Given the description of an element on the screen output the (x, y) to click on. 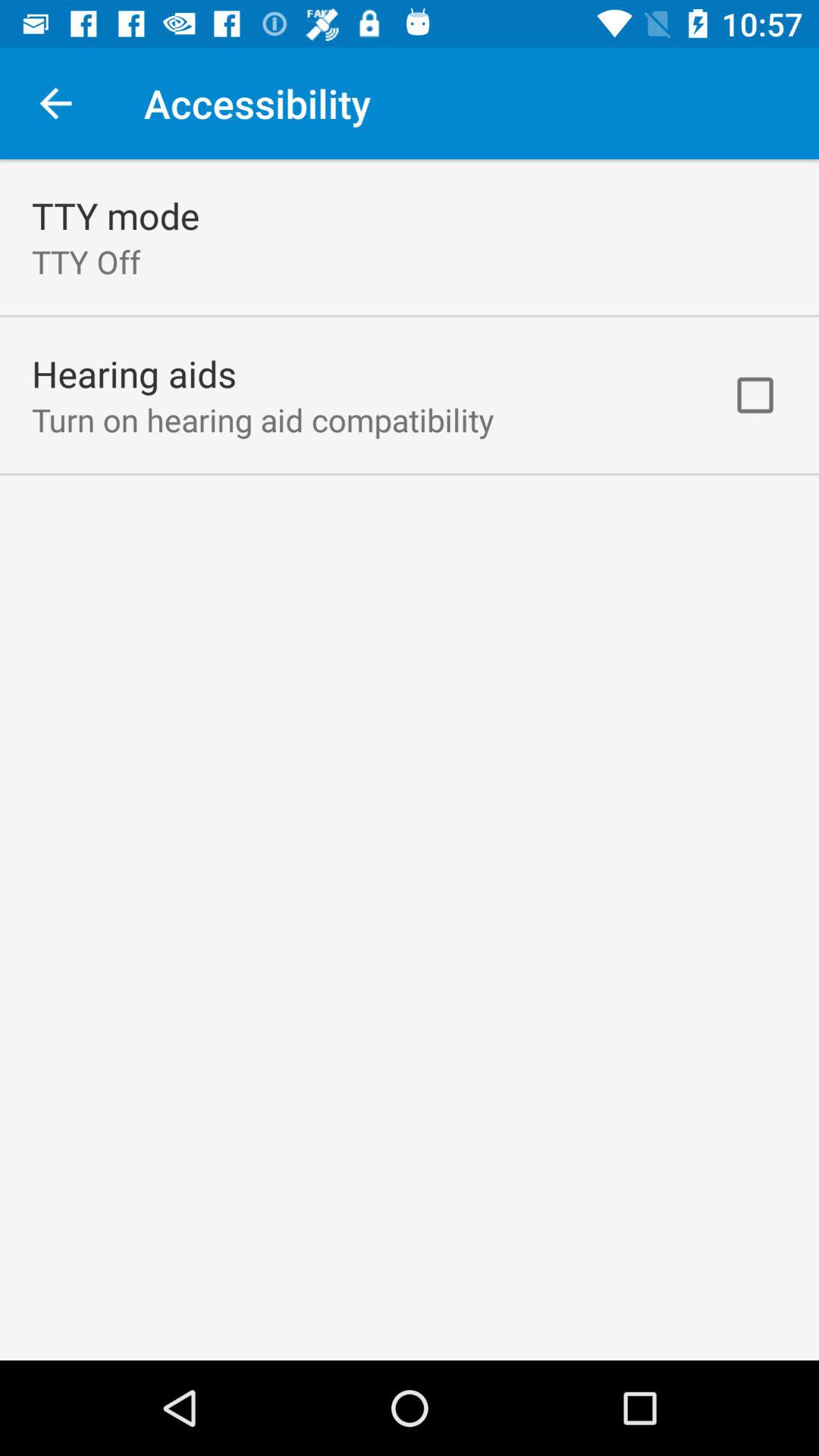
launch the icon below the hearing aids item (262, 419)
